Given the description of an element on the screen output the (x, y) to click on. 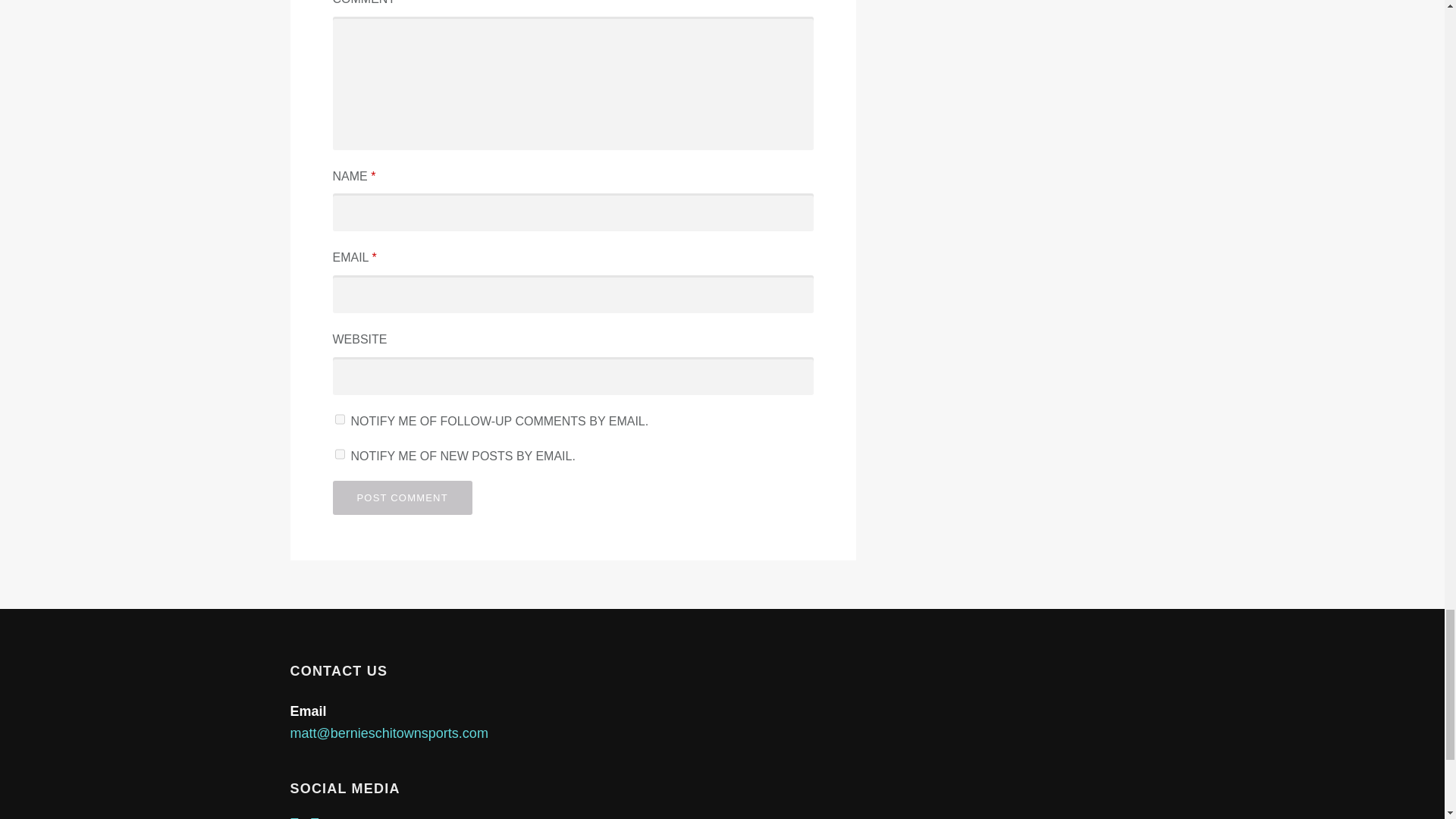
Post Comment (401, 497)
Post Comment (401, 497)
